Given the description of an element on the screen output the (x, y) to click on. 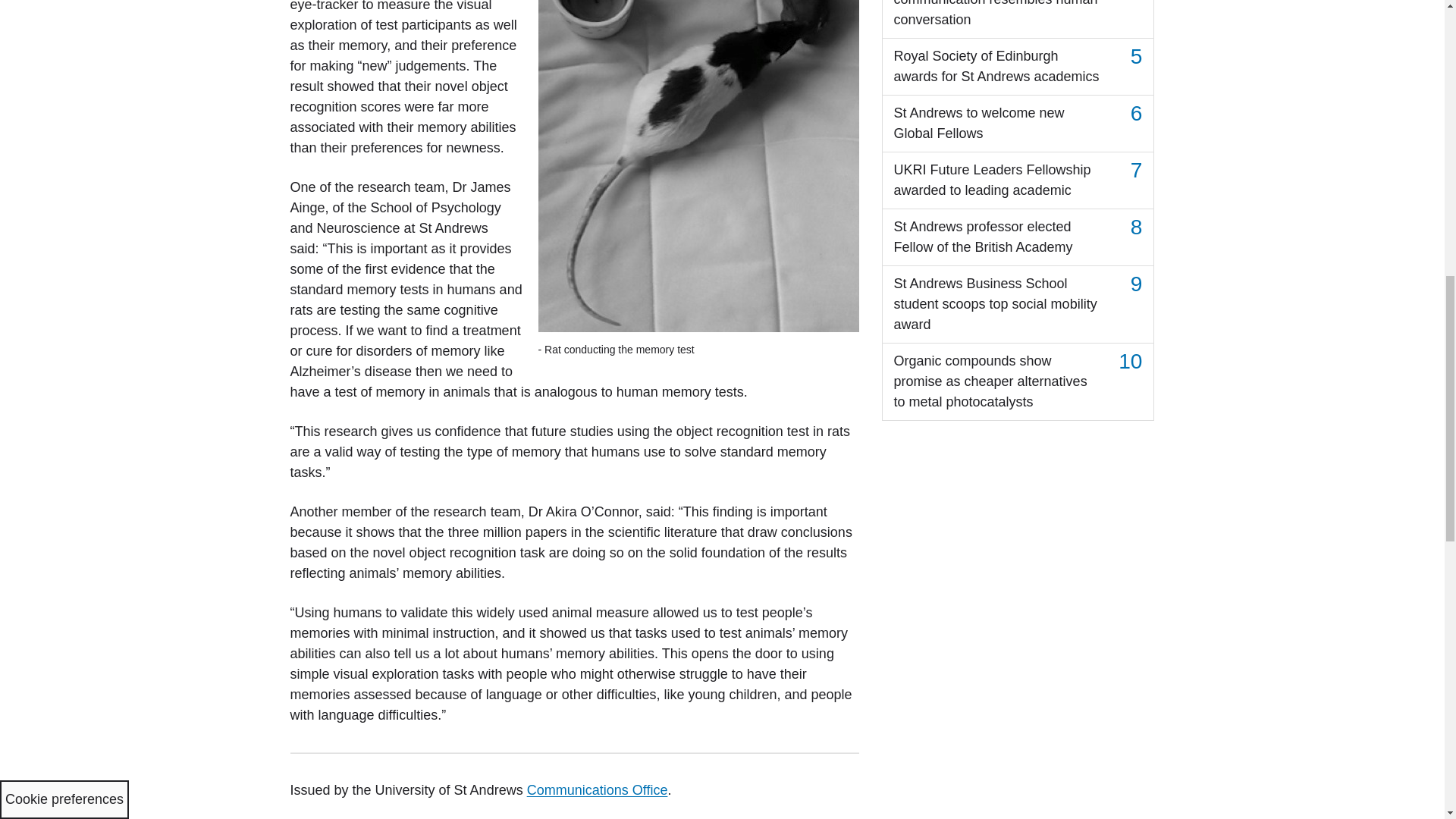
Communications Office (597, 789)
